Given the description of an element on the screen output the (x, y) to click on. 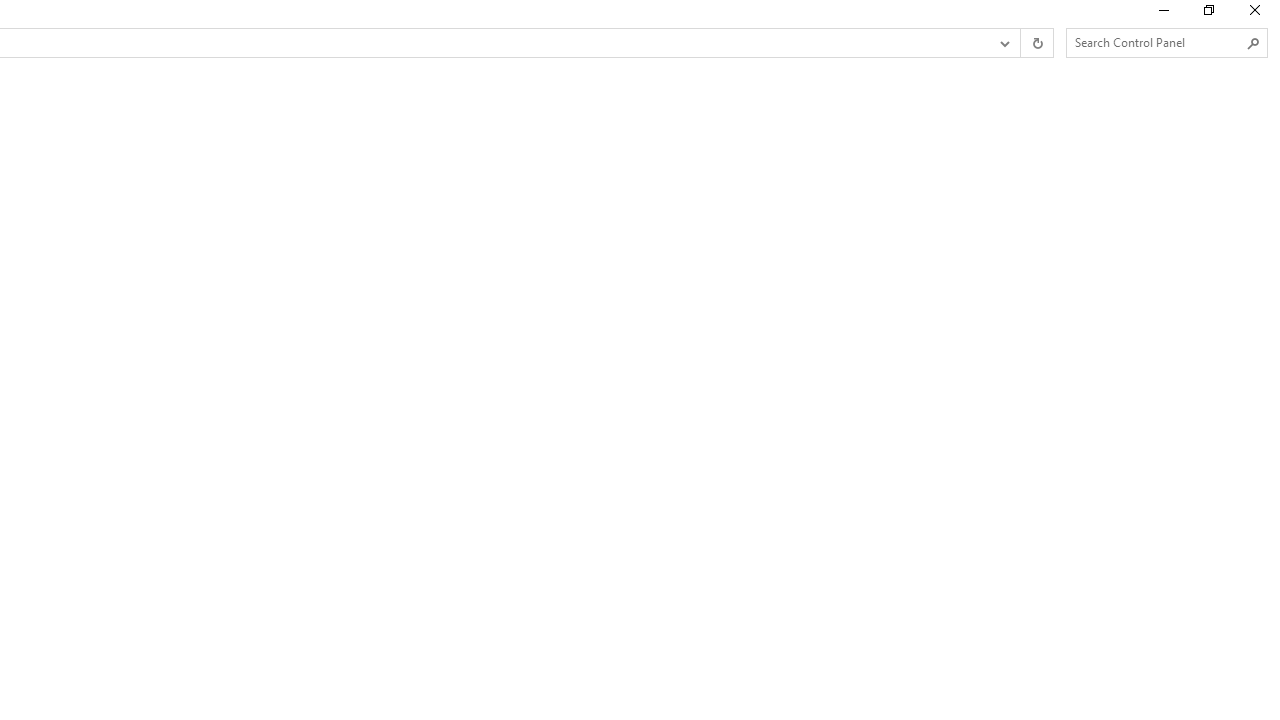
Refresh "Windows Defender Firewall" (F5) (1036, 43)
Address band toolbar (1019, 43)
Previous Locations (1003, 43)
Minimize (1162, 14)
Search Box (1156, 42)
Restore (1208, 14)
Search (1253, 43)
